Given the description of an element on the screen output the (x, y) to click on. 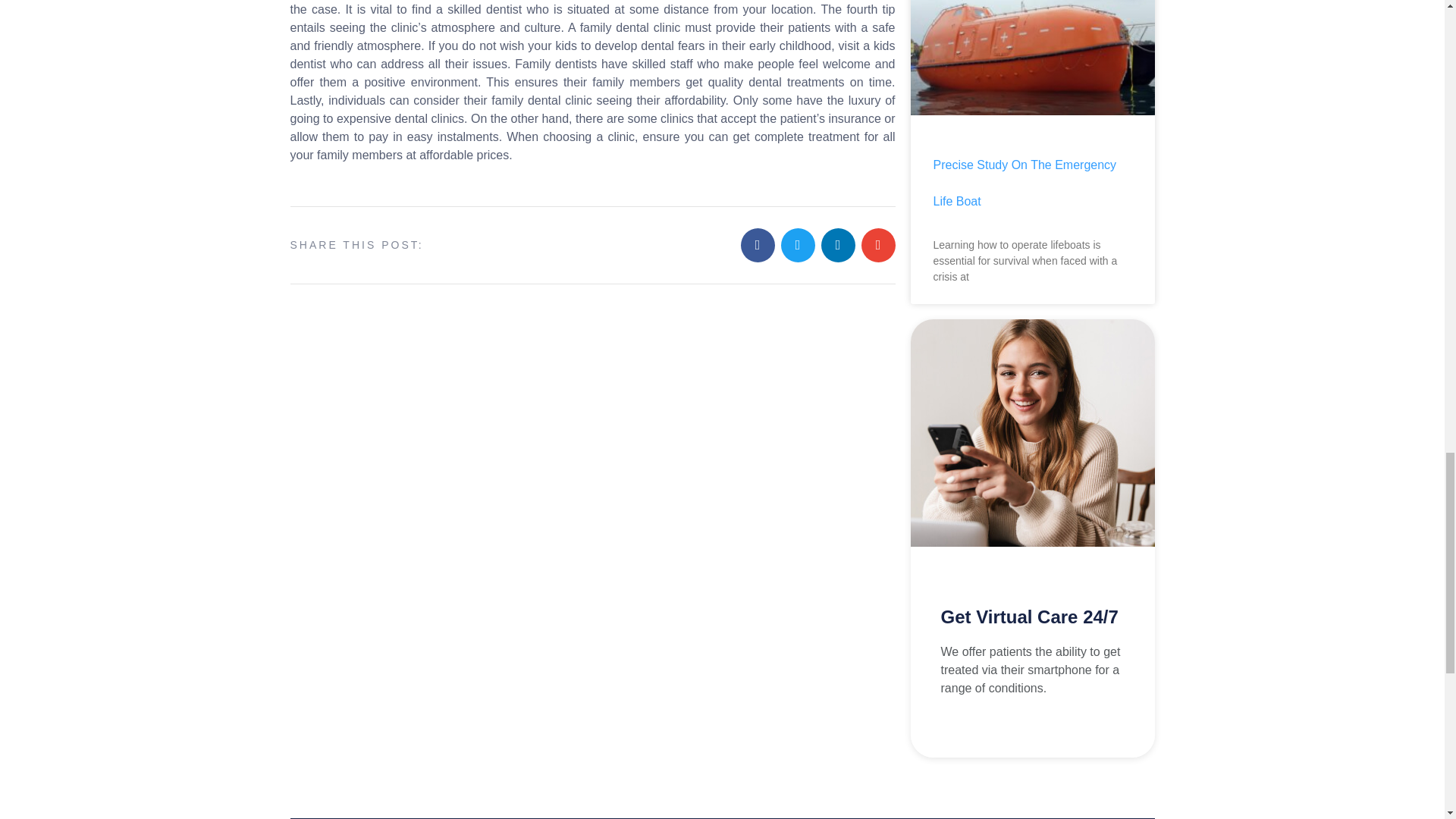
Precise Study On The Emergency Life Boat (1024, 183)
